Given the description of an element on the screen output the (x, y) to click on. 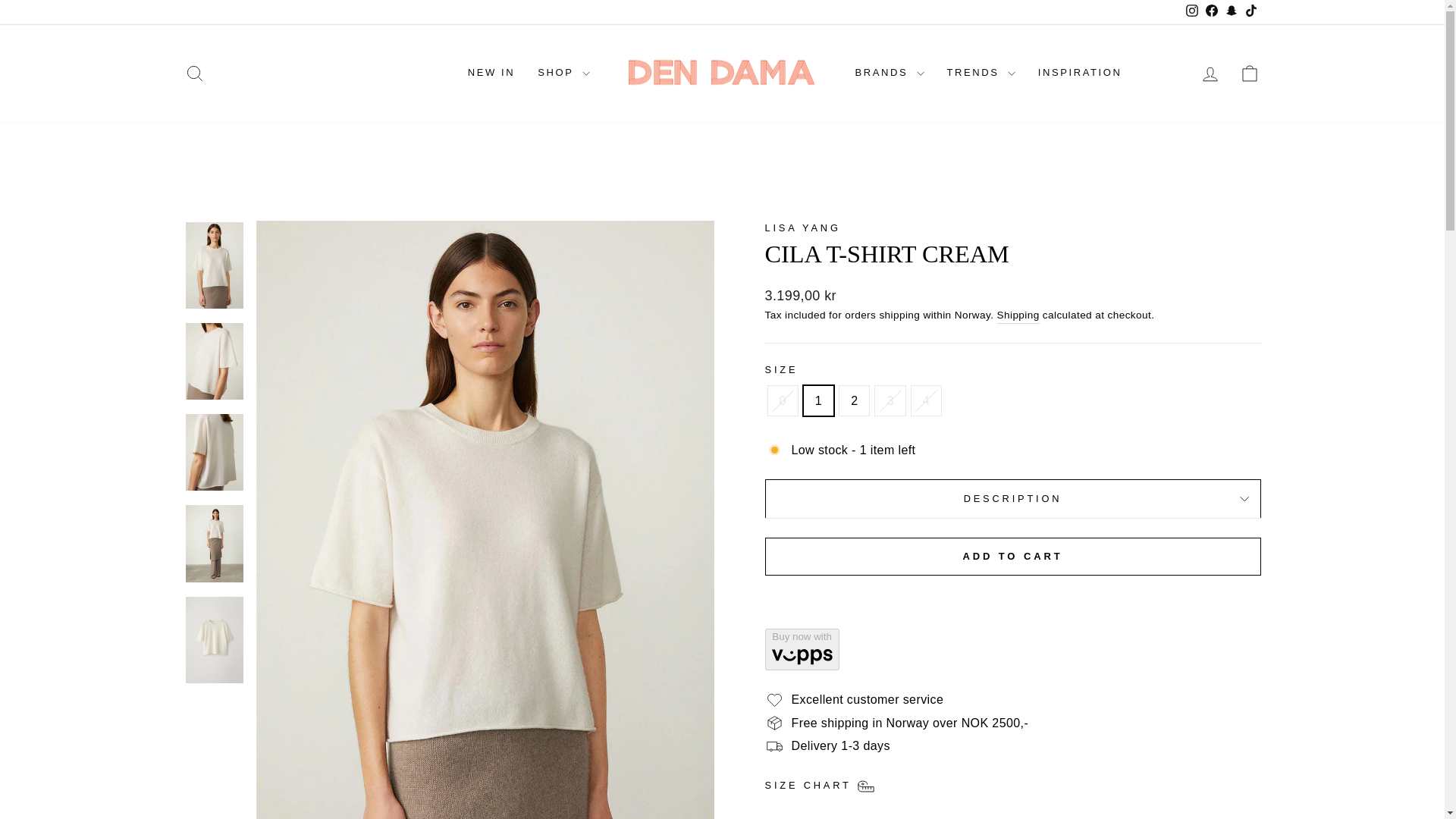
ICON-SEARCH (194, 73)
instagram (1192, 10)
ACCOUNT (1210, 74)
ICON-BAG-MINIMAL (1249, 73)
